Given the description of an element on the screen output the (x, y) to click on. 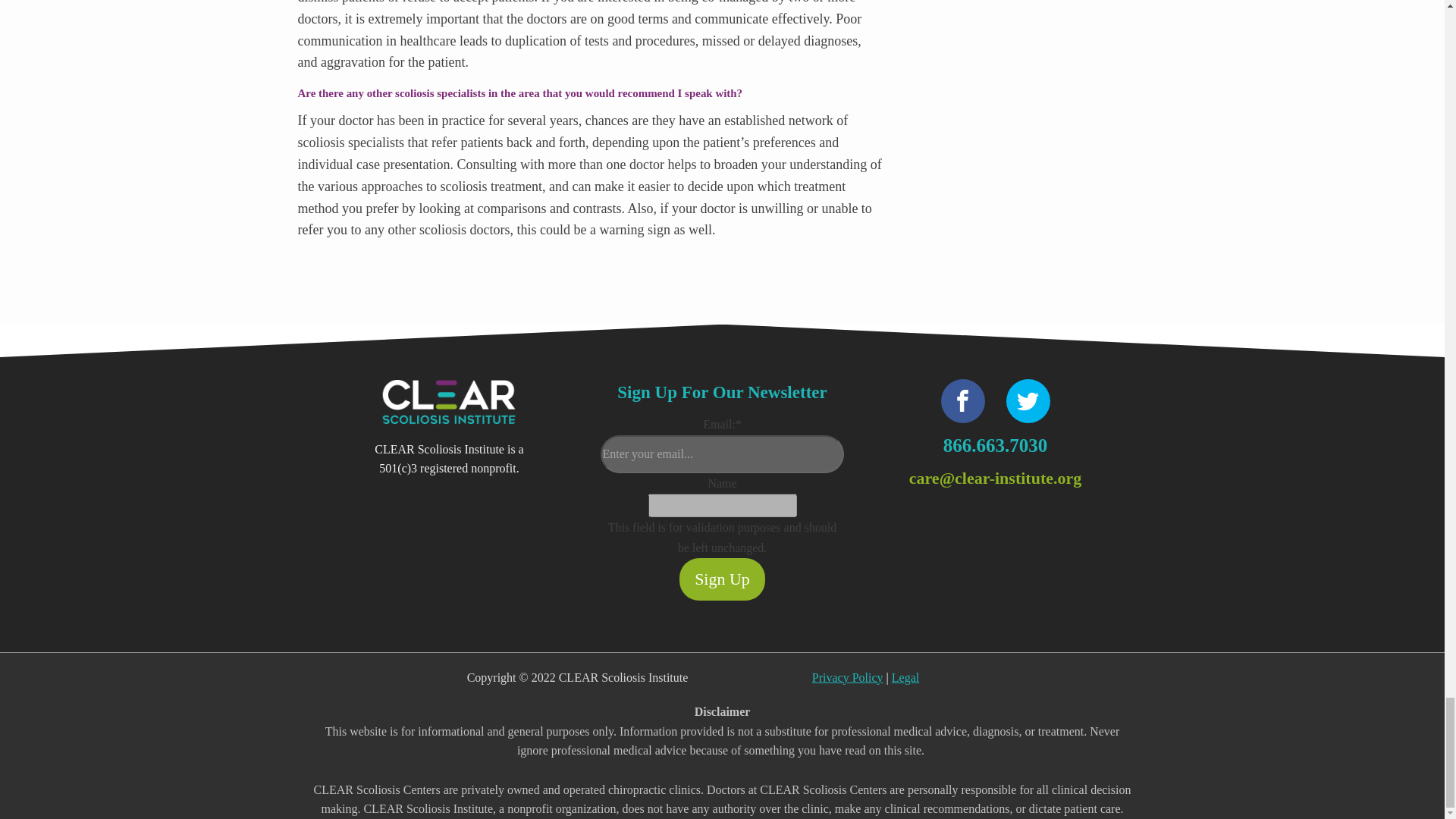
Sign Up (722, 578)
